Given the description of an element on the screen output the (x, y) to click on. 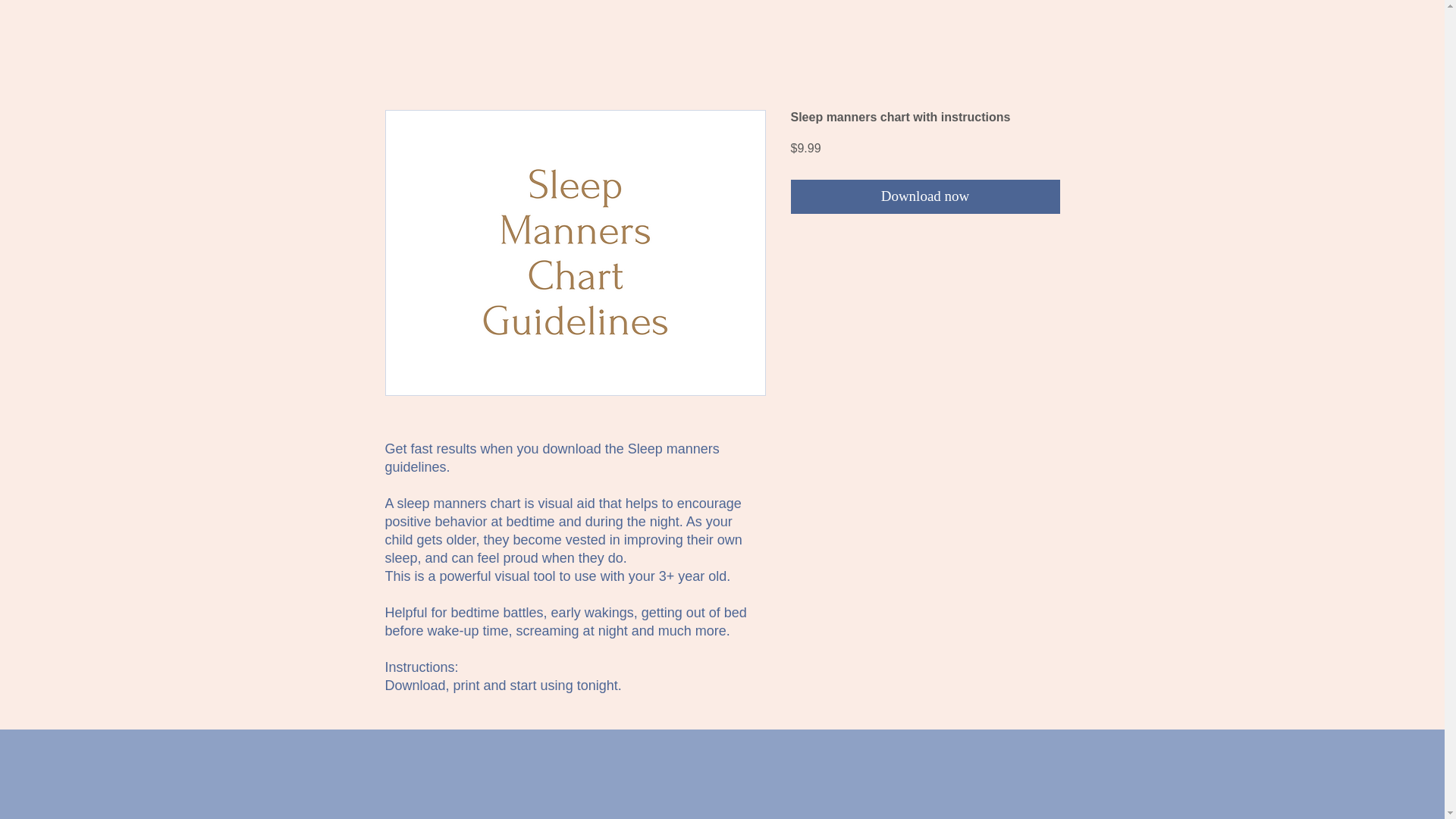
Download now (924, 196)
